Given the description of an element on the screen output the (x, y) to click on. 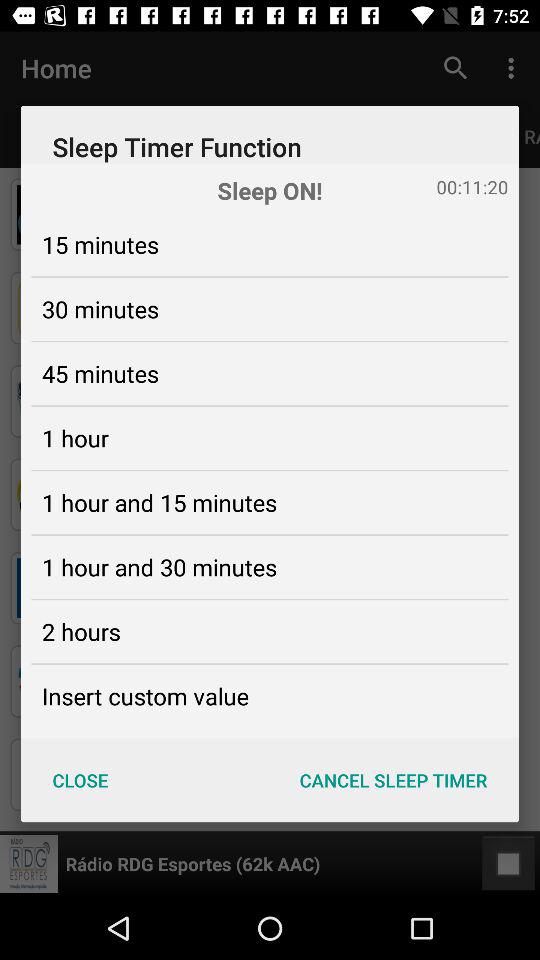
scroll until the close (80, 779)
